Given the description of an element on the screen output the (x, y) to click on. 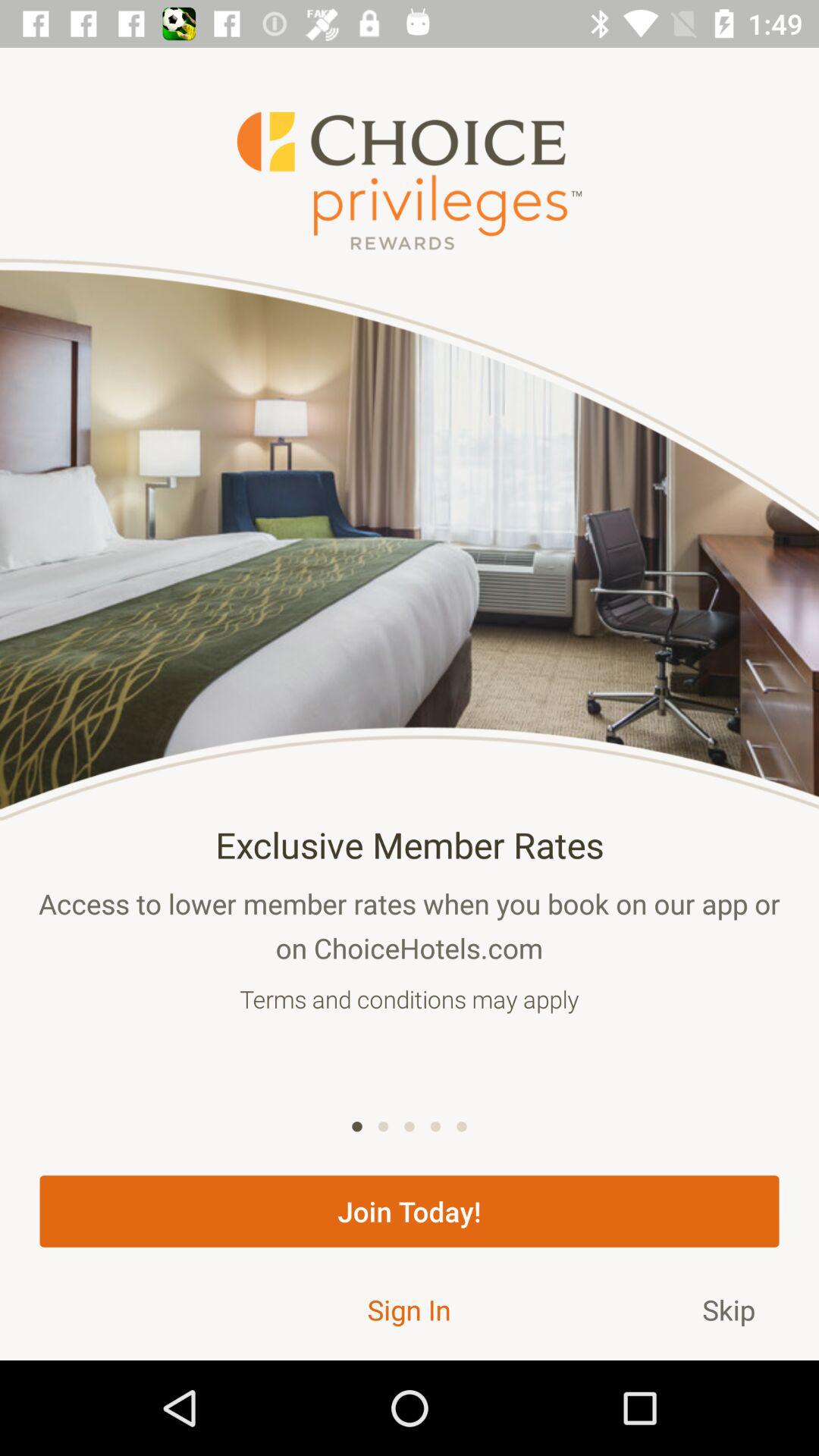
open the item below join today! (728, 1309)
